Given the description of an element on the screen output the (x, y) to click on. 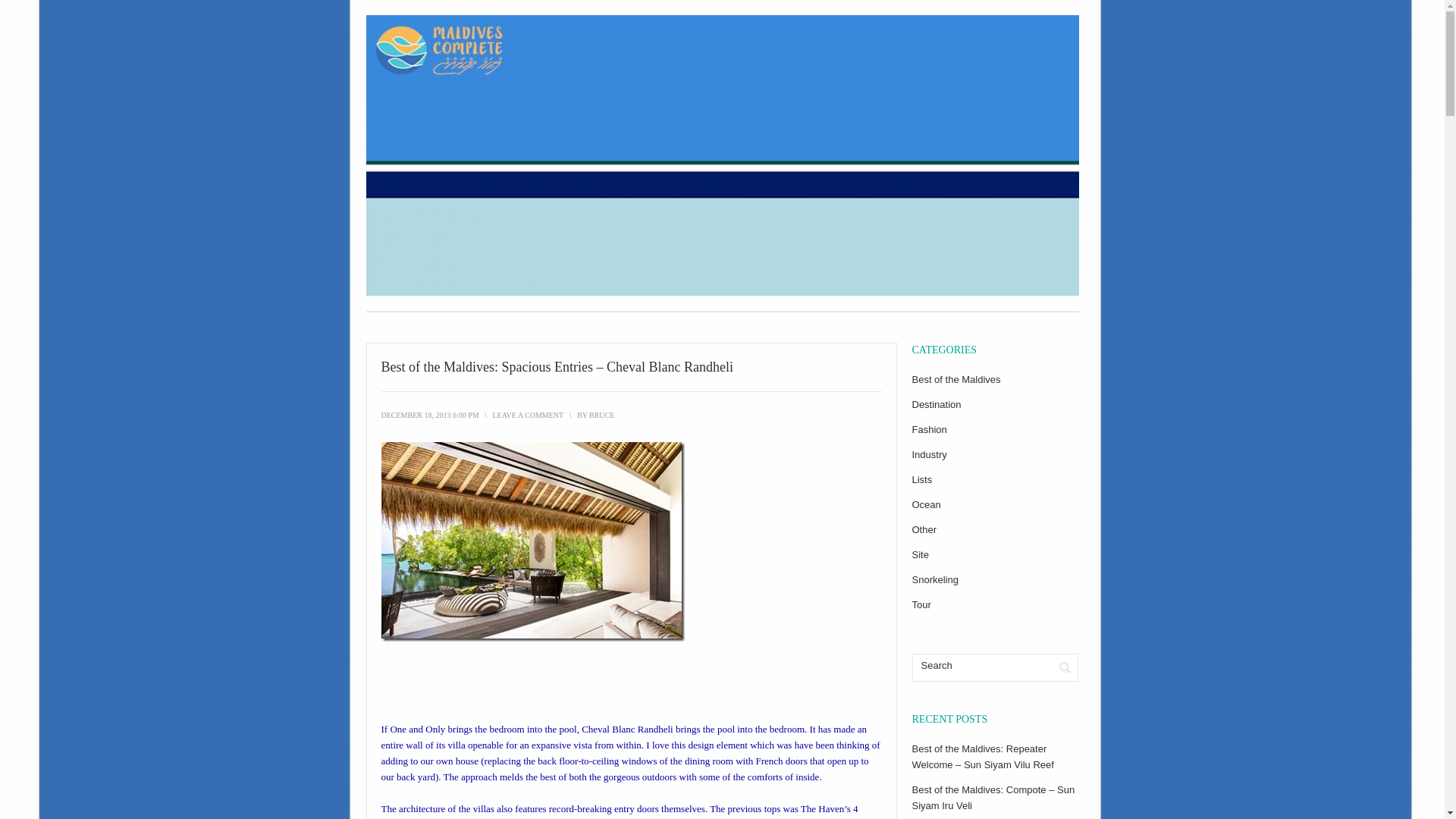
LEAVE A COMMENT (527, 415)
Cheval Blanc Randheli sliding doors (532, 541)
Other (923, 529)
Snorkeling (934, 579)
BRUCE (601, 415)
Site (919, 554)
Search (1064, 667)
DECEMBER 18, 2013 6:00 PM (429, 415)
Cheval Blanc Randheli (626, 728)
Best of the Maldives (955, 378)
Destination (935, 404)
Search (1064, 667)
Industry (928, 454)
Ocean (925, 504)
4 meter high doors (618, 811)
